Given the description of an element on the screen output the (x, y) to click on. 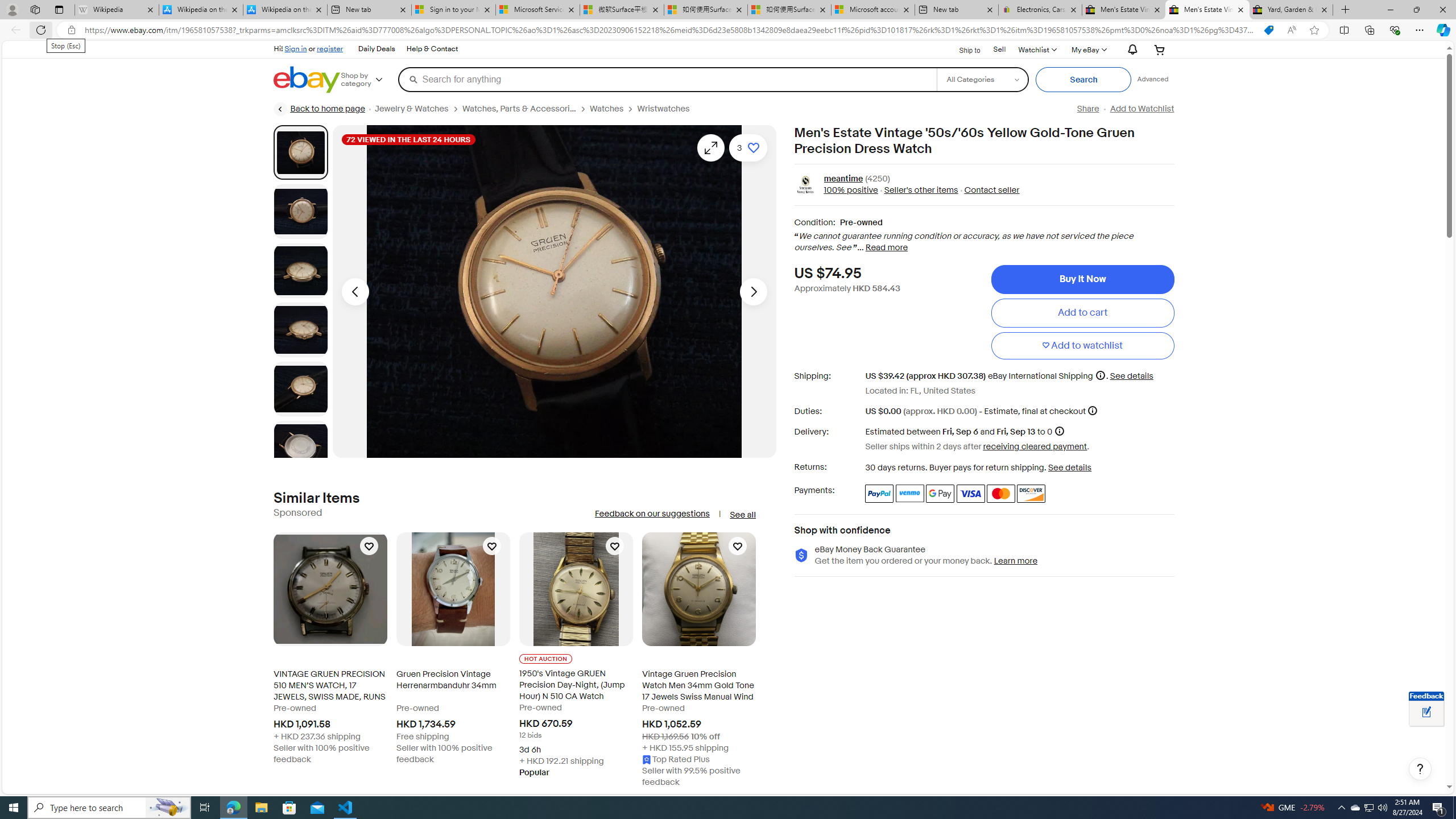
See details for shipping (1131, 375)
(4250) (876, 179)
Advanced Search (1152, 78)
Read more about condition (886, 247)
Select a category for search (981, 78)
Watches (613, 108)
  Seller's other items (917, 190)
Your shopping cart (1159, 49)
Opens image gallery (711, 147)
register (329, 48)
eBay Home (306, 79)
Microsoft Services Agreement (537, 9)
